Given the description of an element on the screen output the (x, y) to click on. 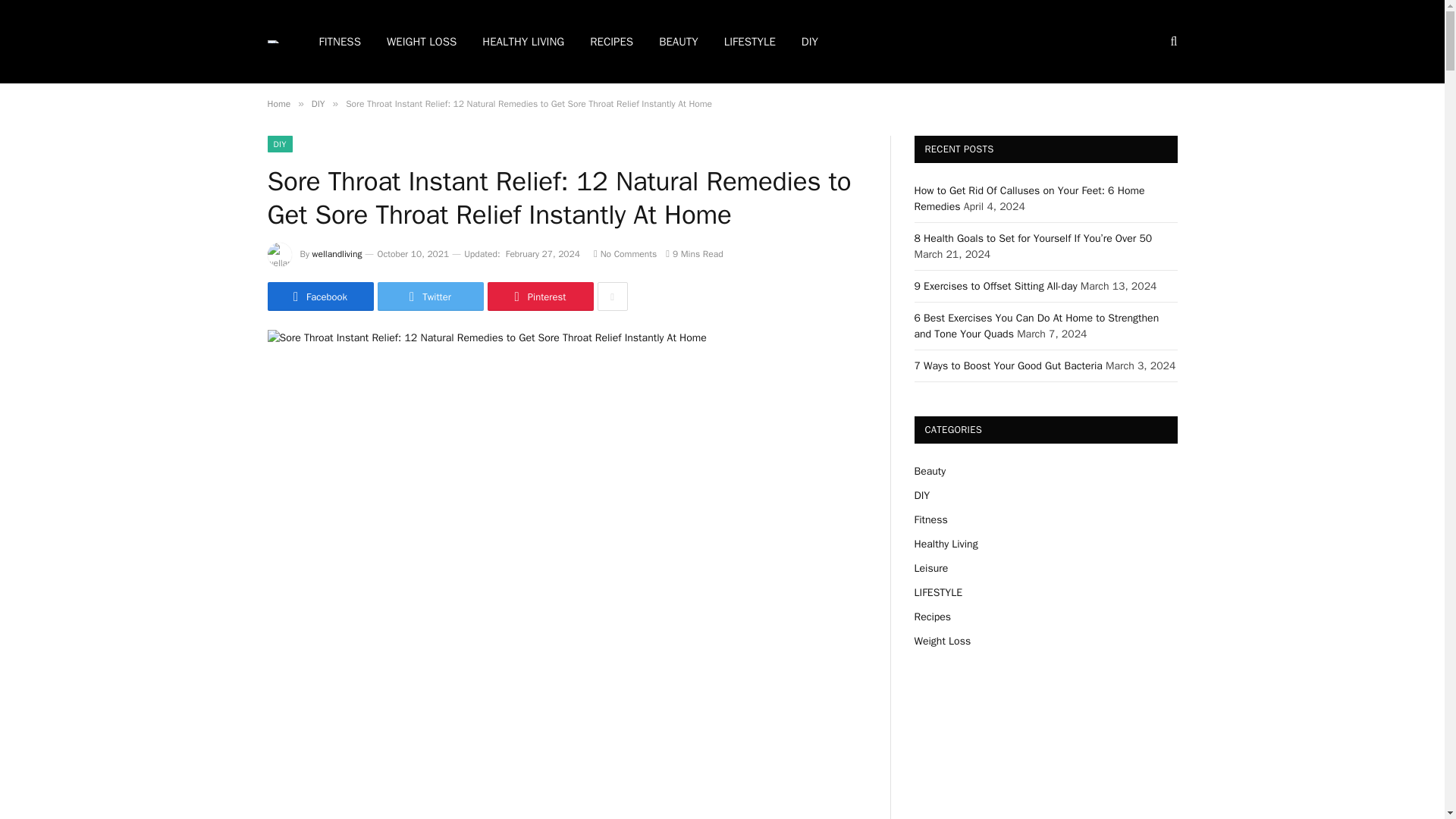
Twitter (430, 296)
Home (277, 103)
Share on Facebook (319, 296)
Posts by wellandliving (337, 254)
DIY (279, 143)
Share on Pinterest (539, 296)
Pinterest (539, 296)
HEALTHY LIVING (522, 41)
Facebook (319, 296)
No Comments (625, 254)
Show More Social Sharing (611, 296)
DIY (317, 103)
wellandliving (337, 254)
WEIGHT LOSS (421, 41)
